Given the description of an element on the screen output the (x, y) to click on. 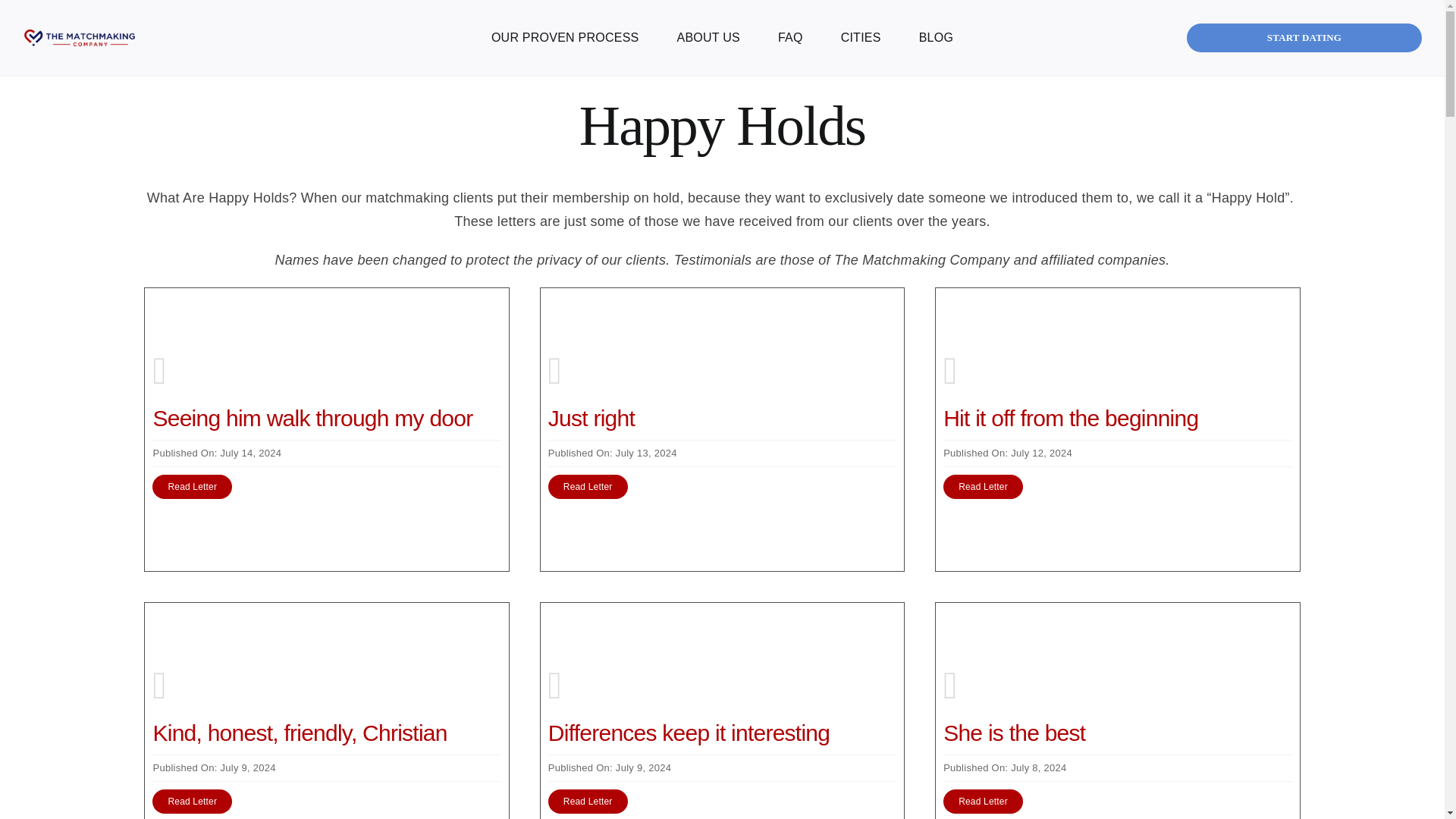
CITIES (860, 38)
Hit it off from the beginning (1070, 417)
Read Letter (983, 486)
START DATING (1304, 37)
ABOUT US (708, 38)
Kind, honest, friendly, Christian (299, 732)
Seeing him walk through my door (311, 417)
BLOG (935, 38)
Read Letter (191, 486)
Read Letter (587, 801)
OUR PROVEN PROCESS (564, 38)
Differences keep it interesting (688, 732)
Read Letter (191, 801)
Read Letter (587, 486)
She is the best (1013, 732)
